Given the description of an element on the screen output the (x, y) to click on. 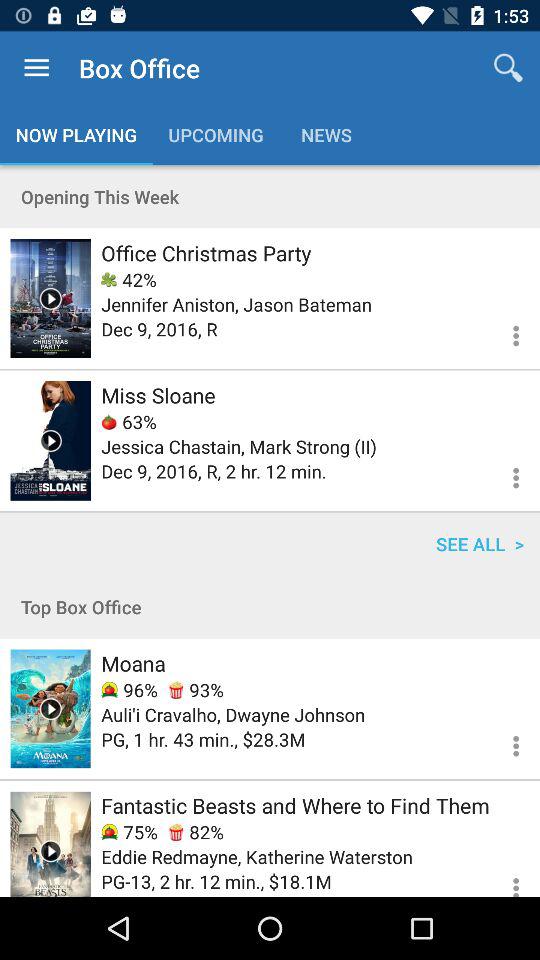
open auli i cravalho icon (233, 714)
